Given the description of an element on the screen output the (x, y) to click on. 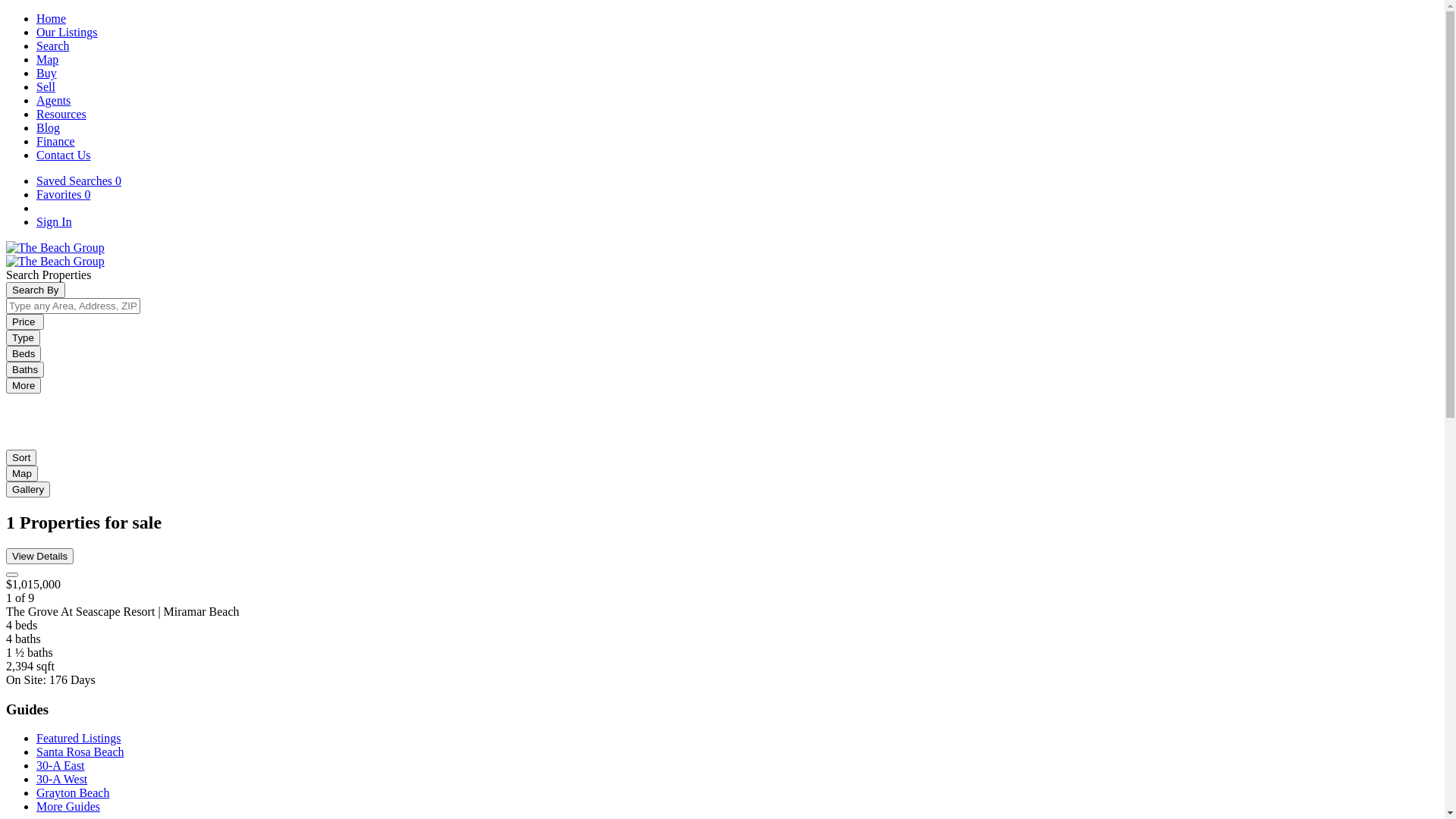
More Guides Element type: text (68, 806)
Beds Element type: text (23, 353)
Map Element type: text (47, 59)
Favorites 0 Element type: text (63, 194)
Agents Element type: text (53, 100)
Sign In Element type: text (54, 221)
More Element type: text (23, 385)
Price  Element type: text (24, 321)
Contact Us Element type: text (63, 154)
Finance Element type: text (55, 140)
Saved Searches 0 Element type: text (78, 180)
Our Listings Element type: text (66, 31)
Search Element type: text (52, 45)
Baths Element type: text (24, 369)
Search By Element type: text (35, 290)
Grayton Beach Element type: text (72, 792)
Sell Element type: text (45, 86)
Map Element type: text (21, 473)
Buy Element type: text (46, 72)
Home Element type: text (50, 18)
Blog Element type: text (47, 127)
30-A West Element type: text (61, 778)
Featured Listings Element type: text (78, 737)
Type Element type: text (23, 337)
30-A East Element type: text (60, 765)
Santa Rosa Beach Element type: text (80, 751)
Resources Element type: text (61, 113)
Map Element type: text (21, 472)
Gallery Element type: text (28, 489)
Gallery Element type: text (28, 488)
View Details Element type: text (39, 556)
View Details Element type: text (722, 562)
Sort Element type: text (21, 457)
